Given the description of an element on the screen output the (x, y) to click on. 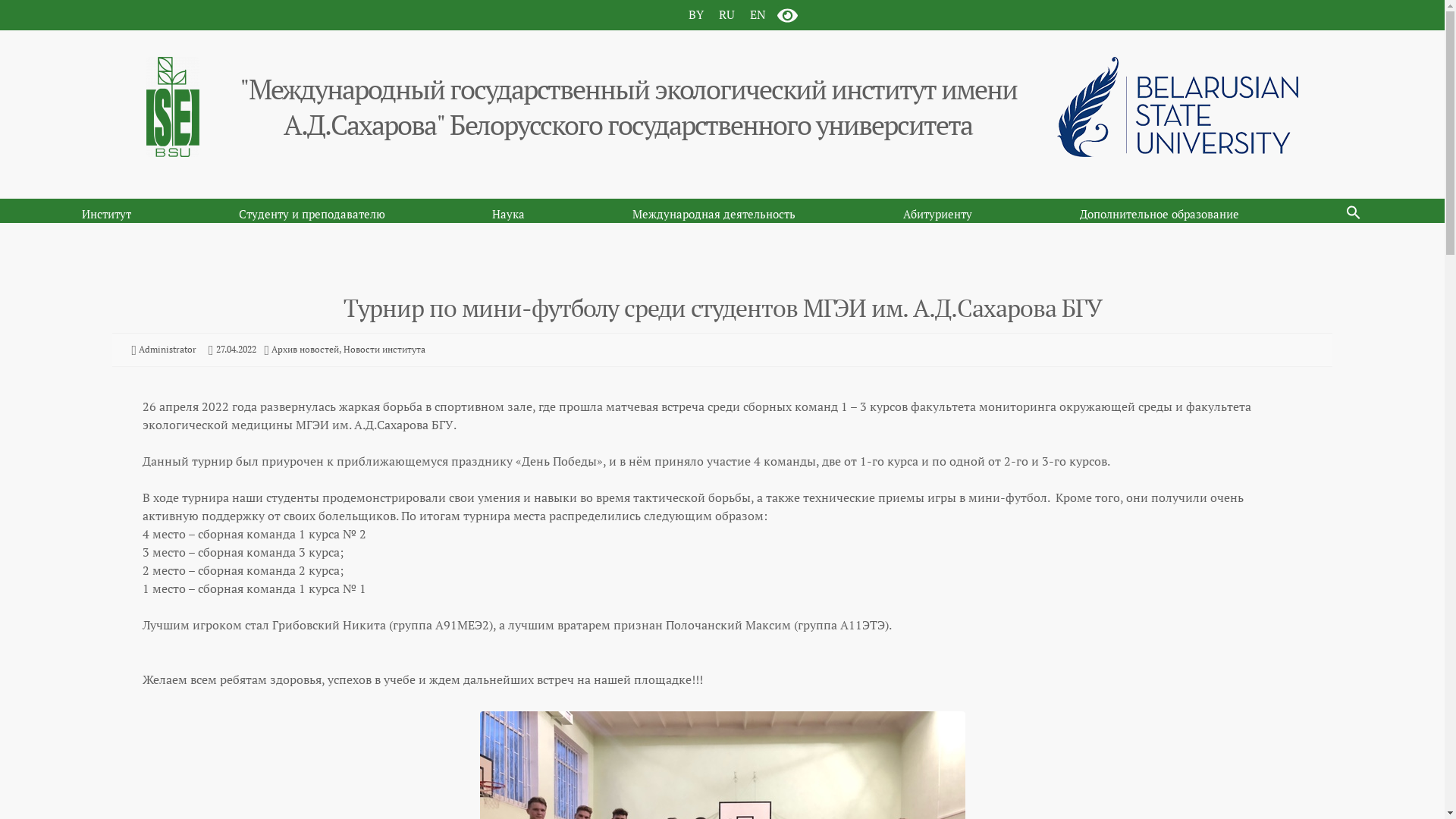
RU Element type: text (726, 14)
BY Element type: text (695, 14)
Administrator Element type: text (167, 348)
EN Element type: text (757, 14)
27.04.2022 Element type: text (236, 348)
